Given the description of an element on the screen output the (x, y) to click on. 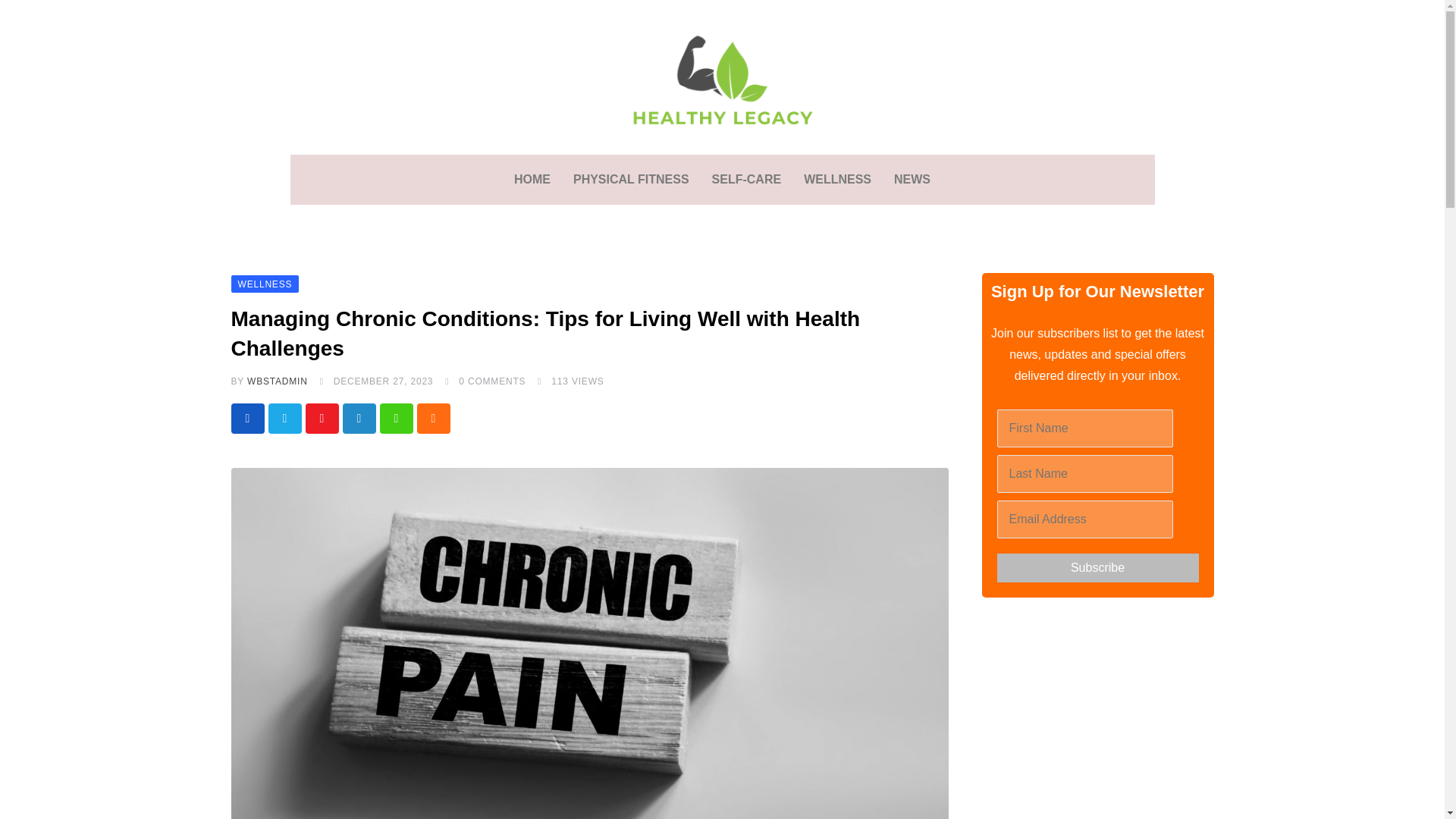
PHYSICAL FITNESS (631, 179)
NEWS (912, 179)
Posts by wbstadmin (277, 380)
WBSTADMIN (277, 380)
WELLNESS (264, 282)
WELLNESS (837, 179)
Subscribe (1096, 567)
HOME (532, 179)
Subscribe (1096, 567)
SELF-CARE (746, 179)
